Given the description of an element on the screen output the (x, y) to click on. 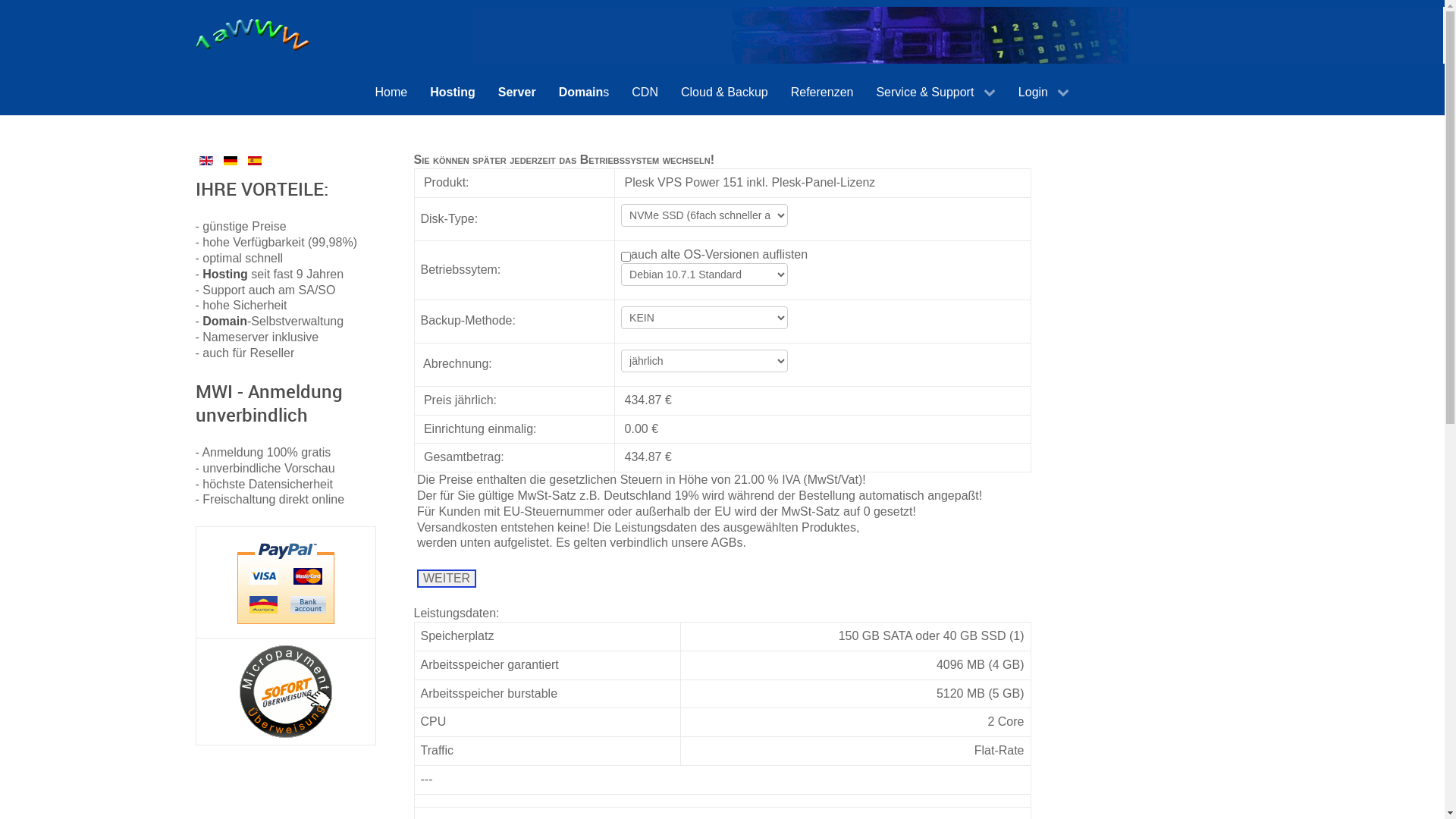
Service & Support Element type: text (935, 92)
Hosting Element type: text (452, 91)
1awww Element type: hover (252, 34)
CDN Element type: text (644, 91)
deutsch Element type: hover (230, 160)
Server Element type: text (516, 91)
English (UK) Element type: hover (205, 160)
Cloud & Backup Element type: text (724, 91)
Login Element type: text (1044, 92)
WEITER Element type: text (446, 578)
Domains Element type: text (584, 91)
Referenzen Element type: text (822, 91)
Home Element type: text (391, 91)
